Given the description of an element on the screen output the (x, y) to click on. 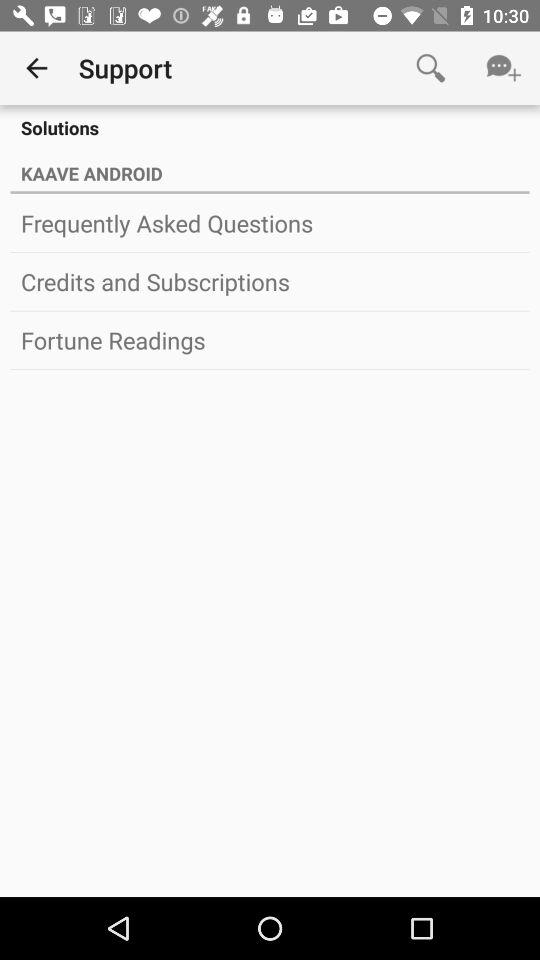
click item next to the support (36, 68)
